Given the description of an element on the screen output the (x, y) to click on. 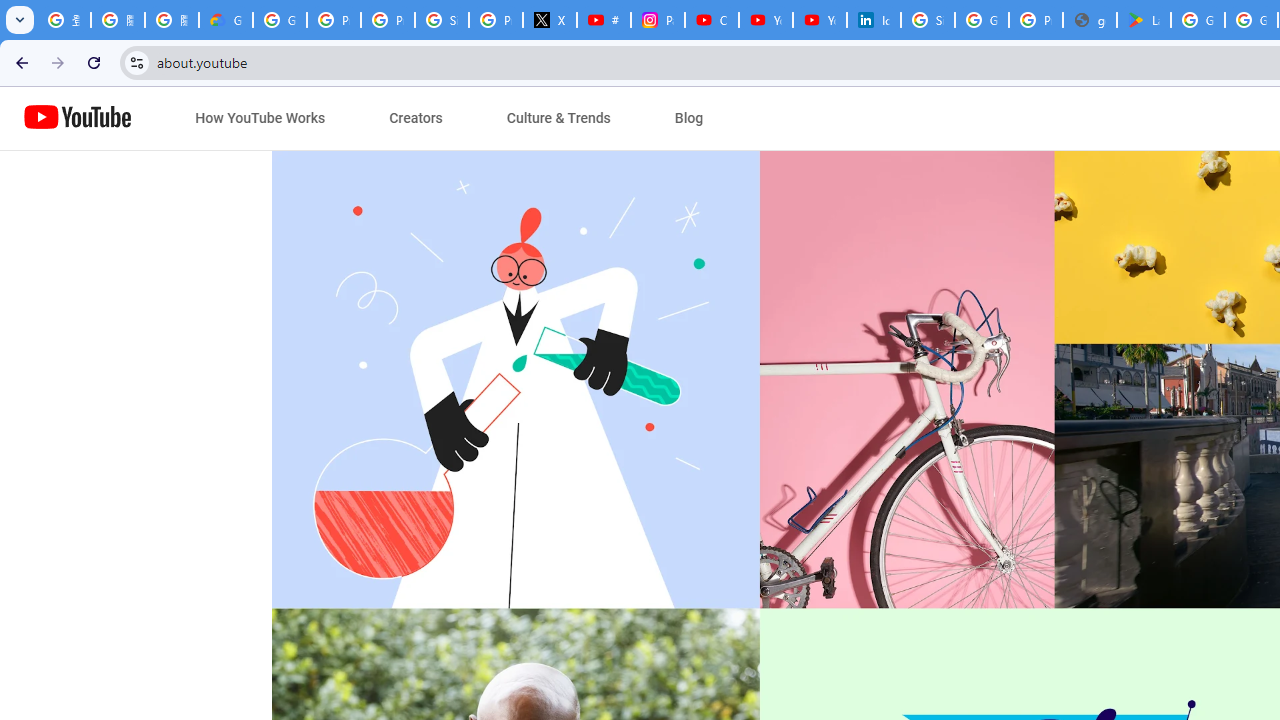
Creators (415, 118)
Sign in - Google Accounts (927, 20)
YouTube Culture & Trends - YouTube Top 10, 2021 (819, 20)
